Given the description of an element on the screen output the (x, y) to click on. 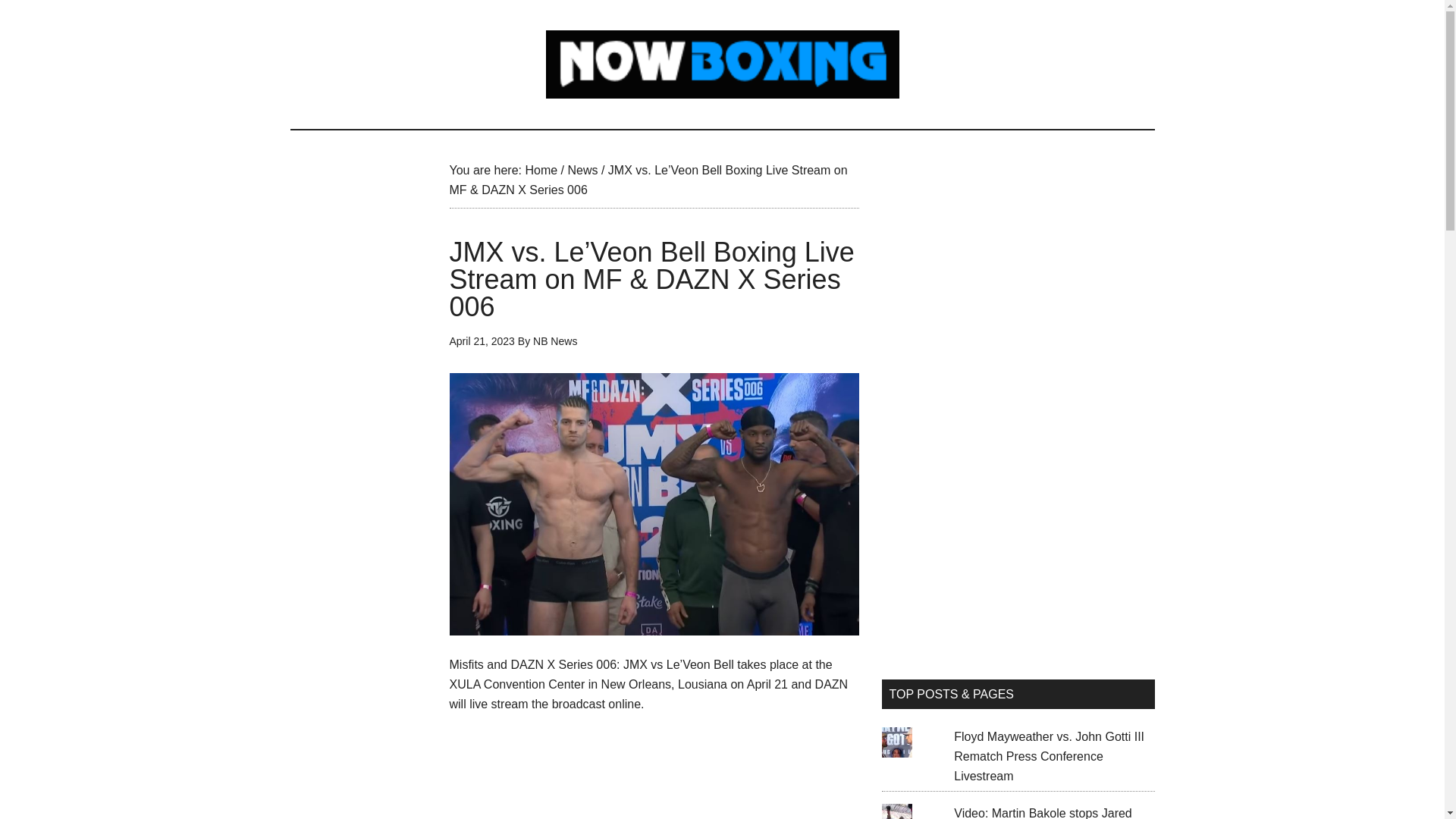
NB News (554, 340)
News (581, 169)
Advertisement (653, 776)
Now Boxing (721, 64)
Home (540, 169)
